Given the description of an element on the screen output the (x, y) to click on. 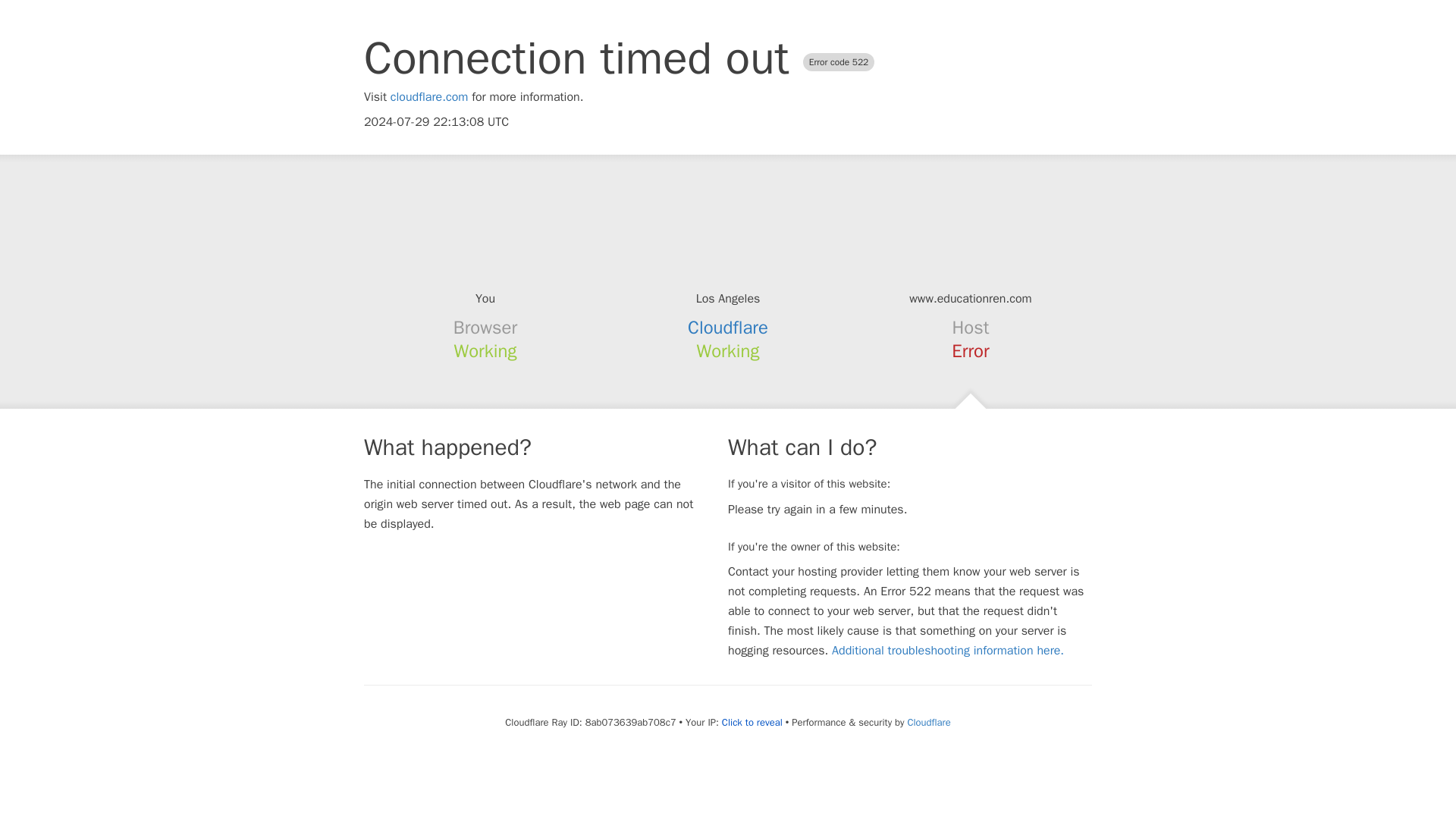
Click to reveal (752, 722)
Cloudflare (727, 327)
cloudflare.com (429, 96)
Cloudflare (928, 721)
Additional troubleshooting information here. (947, 650)
